Given the description of an element on the screen output the (x, y) to click on. 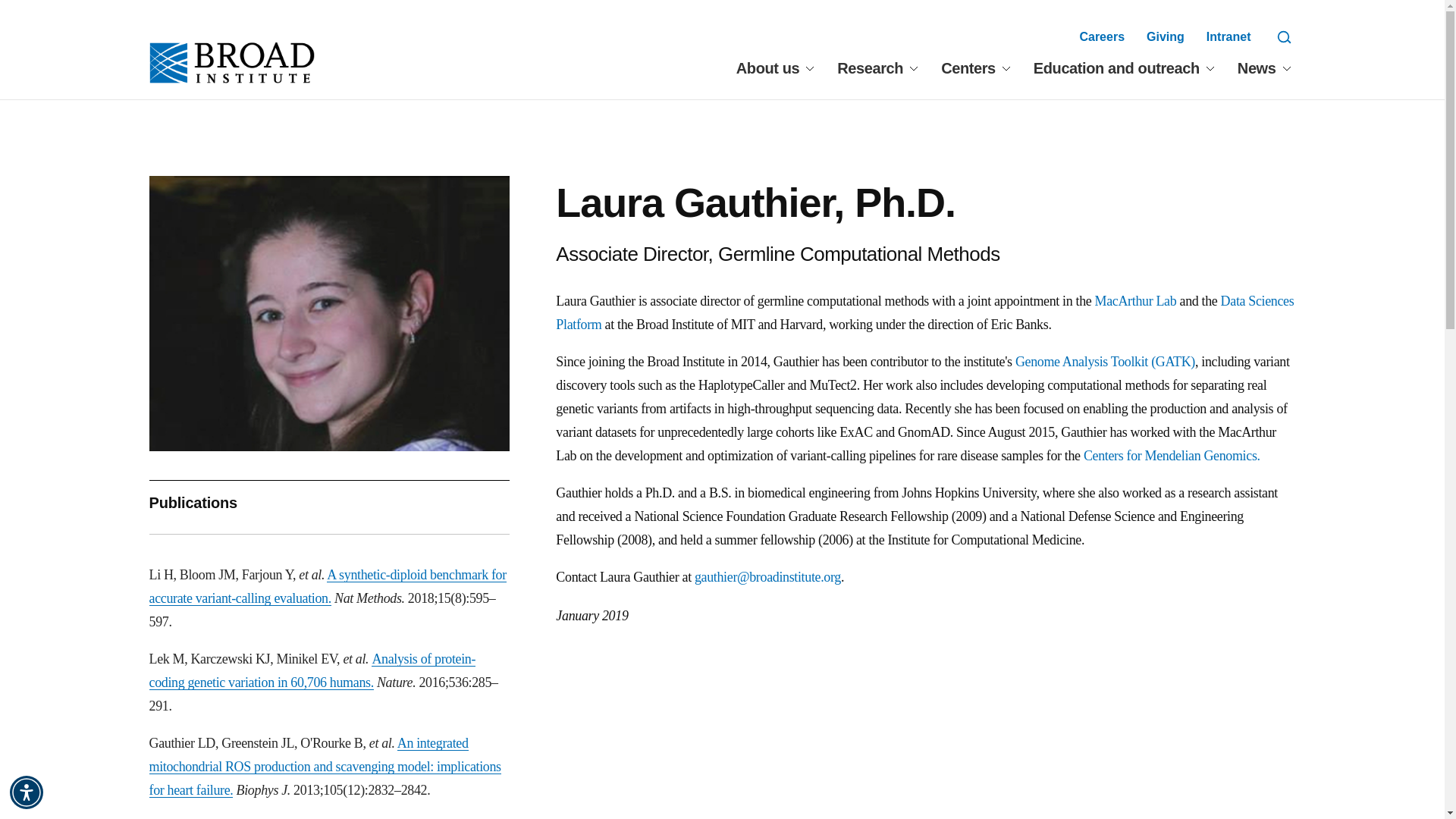
Giving (1166, 36)
Careers (1101, 36)
Intranet (1228, 36)
Broad Institute Intranet (1228, 36)
Accessibility Menu (26, 792)
